Given the description of an element on the screen output the (x, y) to click on. 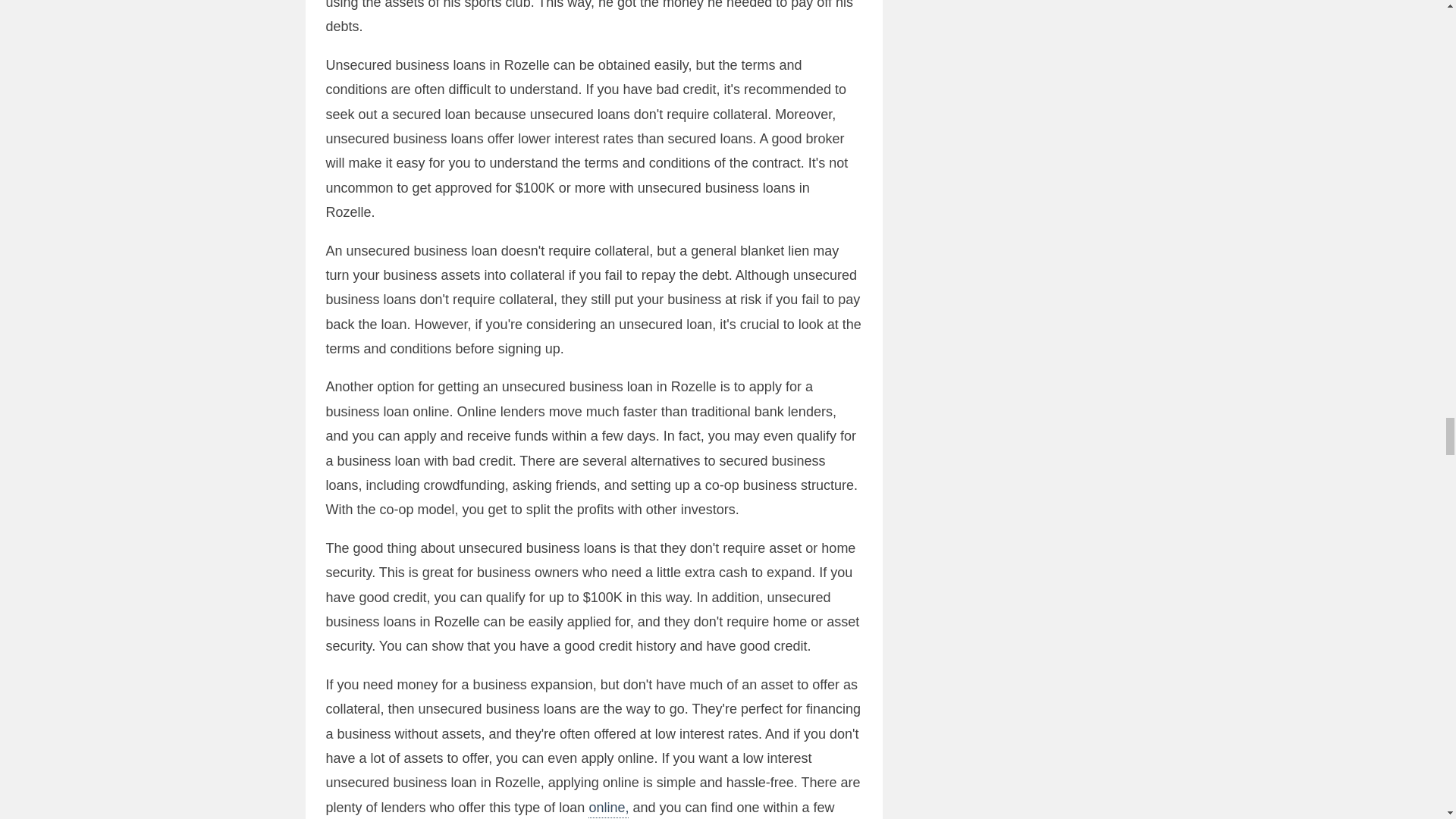
online, (608, 809)
